Given the description of an element on the screen output the (x, y) to click on. 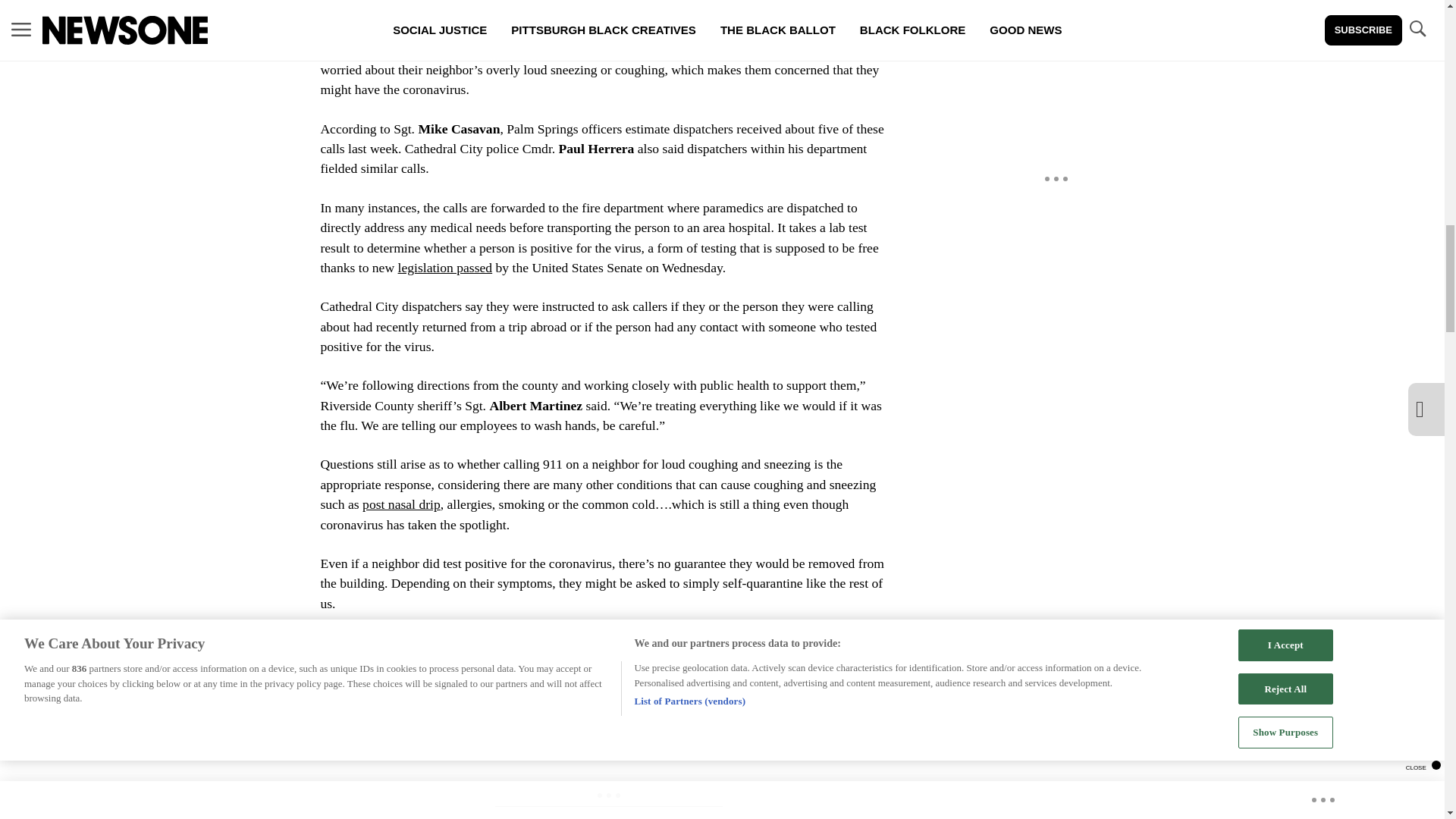
Desert Sun (422, 29)
cracking down on immigrants (400, 682)
legislation passed (445, 267)
post nasal drip (401, 503)
